Given the description of an element on the screen output the (x, y) to click on. 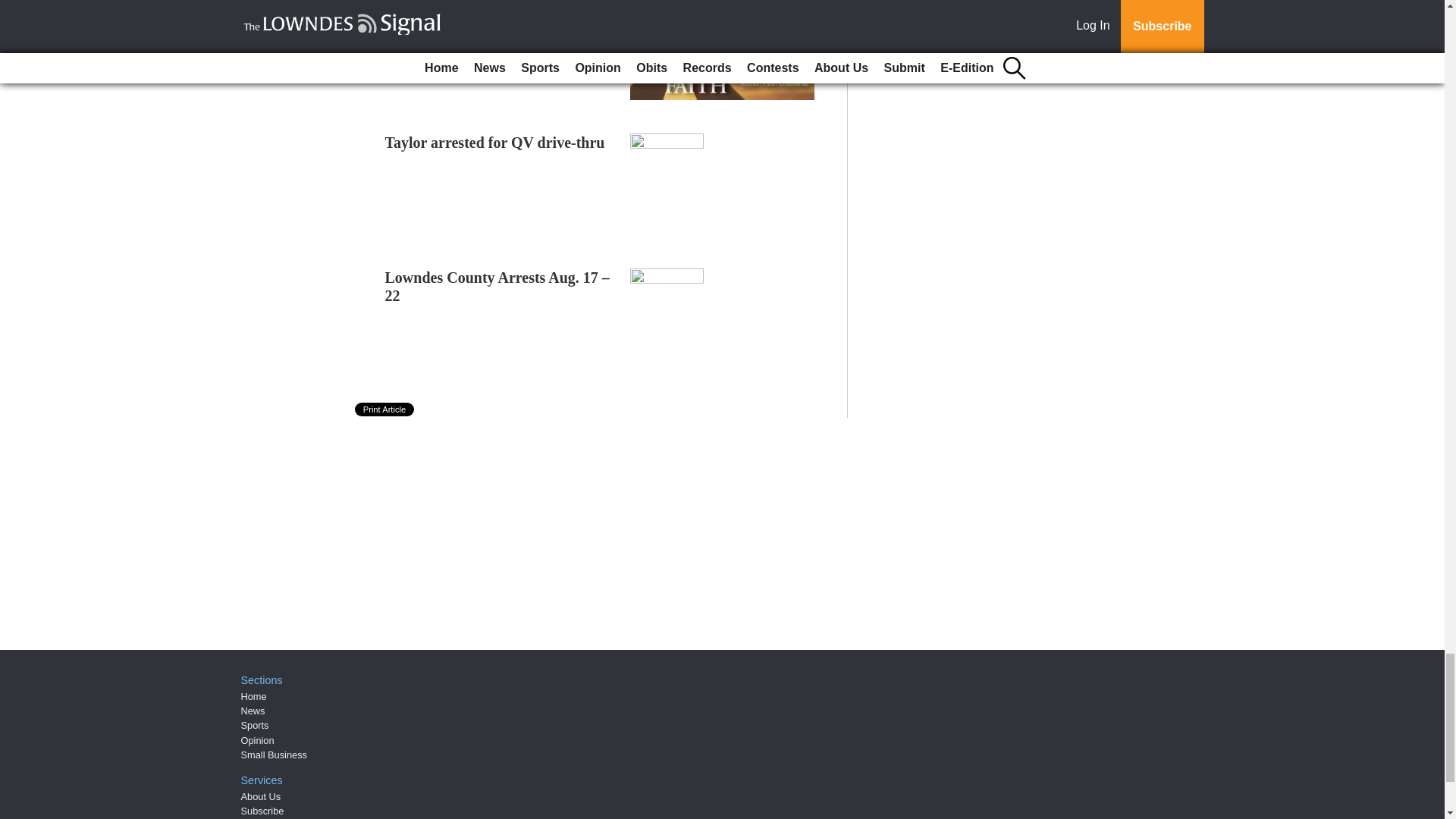
Home (253, 696)
Live for today or focus on tomorrow? (468, 17)
Subscribe (262, 810)
About Us (261, 796)
News (252, 710)
Taylor arrested for QV drive-thru (495, 142)
Taylor arrested for QV drive-thru (495, 142)
Live for today or focus on tomorrow? (468, 17)
Opinion (258, 740)
Print Article (384, 409)
